Given the description of an element on the screen output the (x, y) to click on. 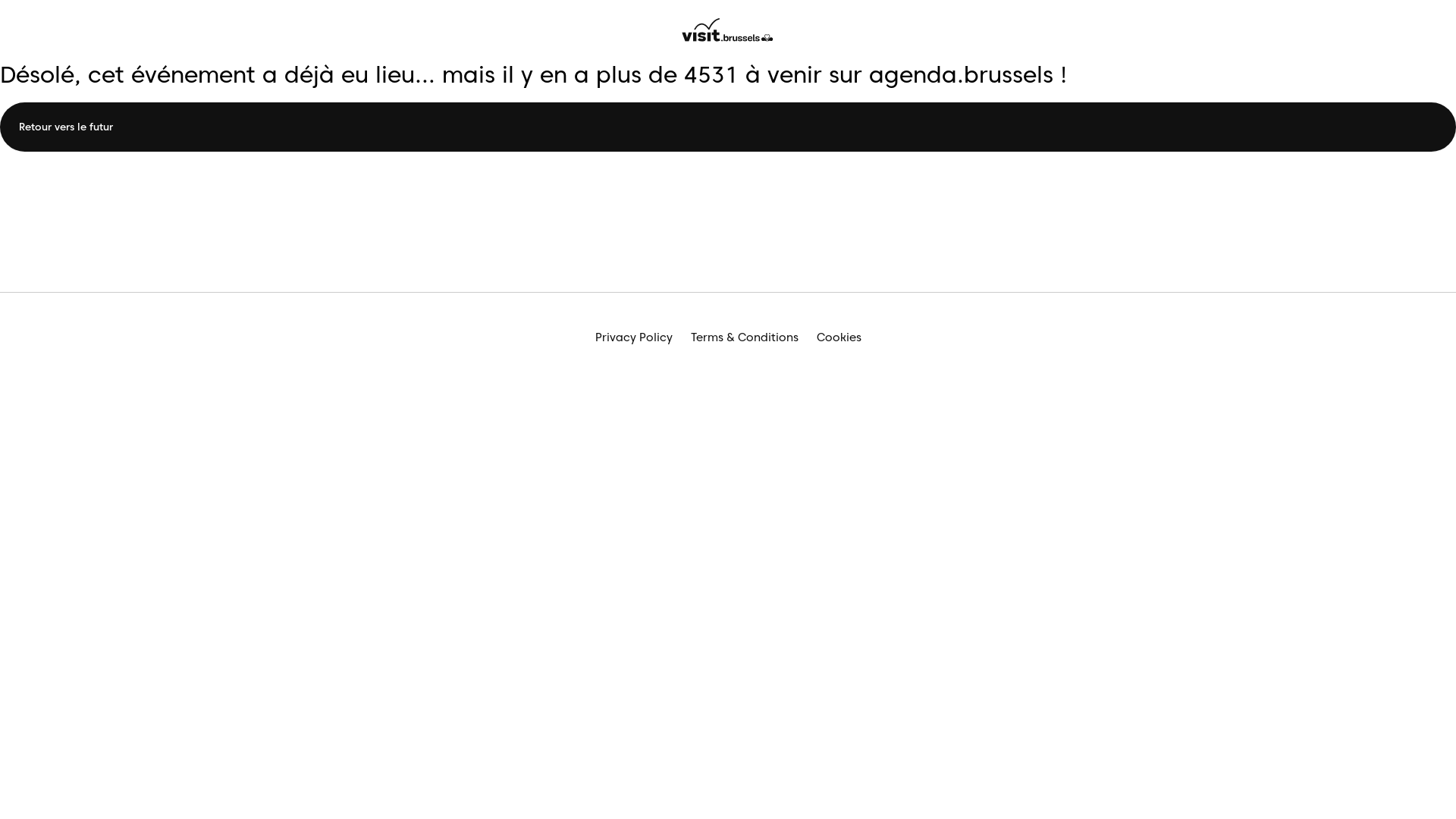
Cookies Element type: text (837, 337)
Privacy Policy Element type: text (632, 337)
Terms & Conditions Element type: text (743, 337)
